Given the description of an element on the screen output the (x, y) to click on. 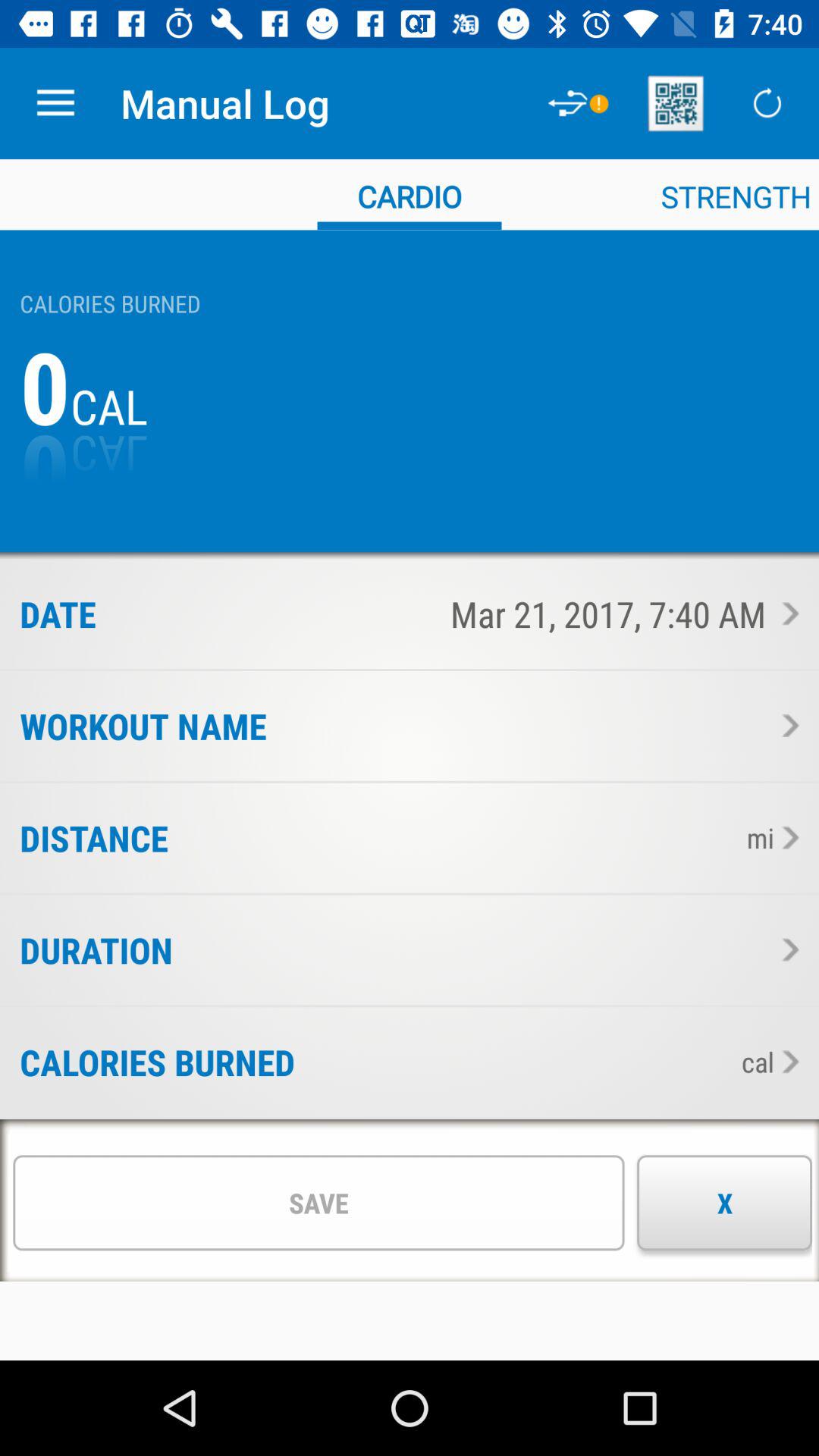
select item to the right of save item (724, 1202)
